Given the description of an element on the screen output the (x, y) to click on. 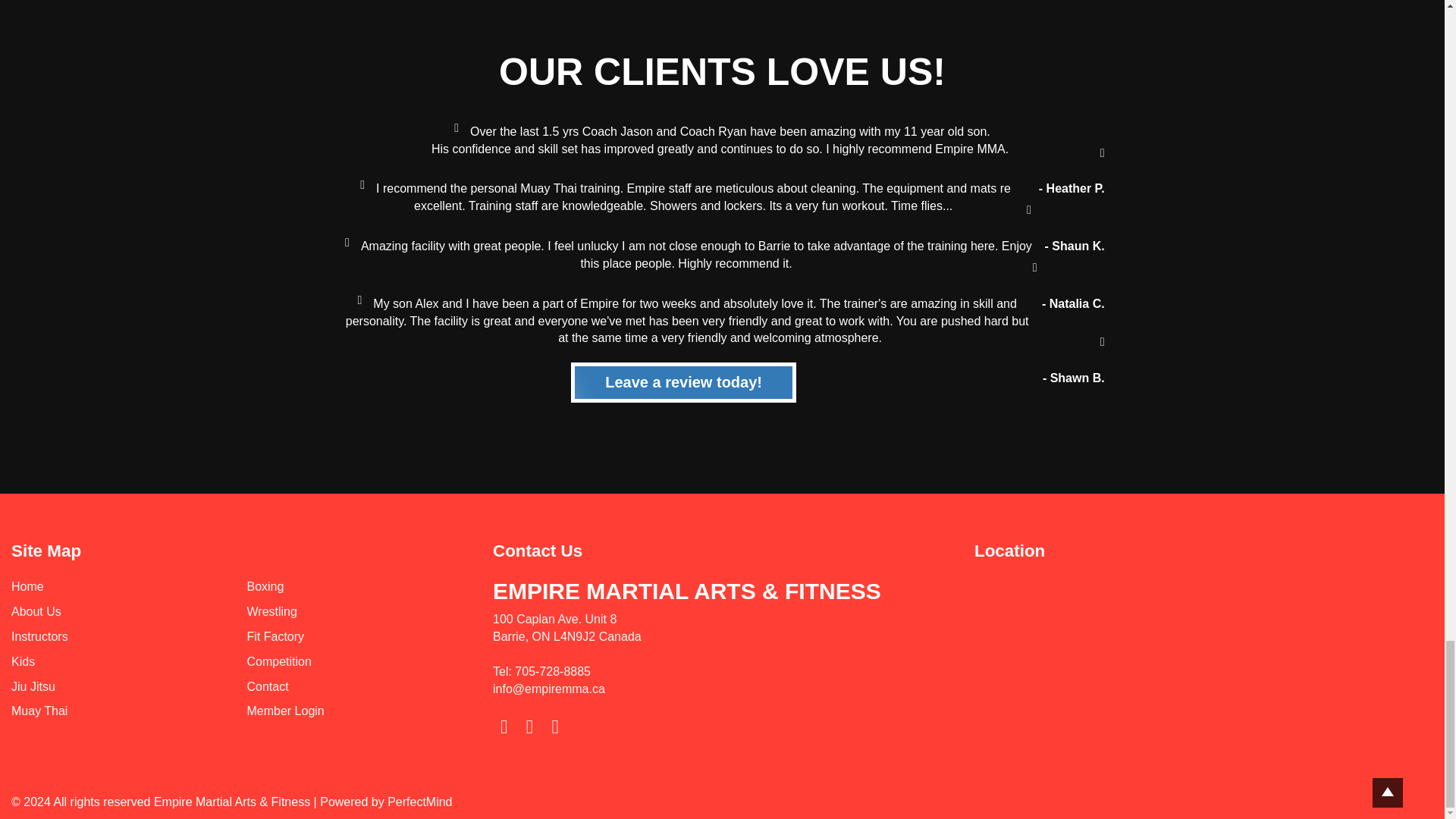
Home (27, 585)
Instructors (39, 635)
Jiu Jitsu (33, 686)
Leave a review today! (683, 382)
Home (27, 585)
Instructors (39, 635)
About Us (36, 611)
Kids (22, 661)
About Us (36, 611)
